Given the description of an element on the screen output the (x, y) to click on. 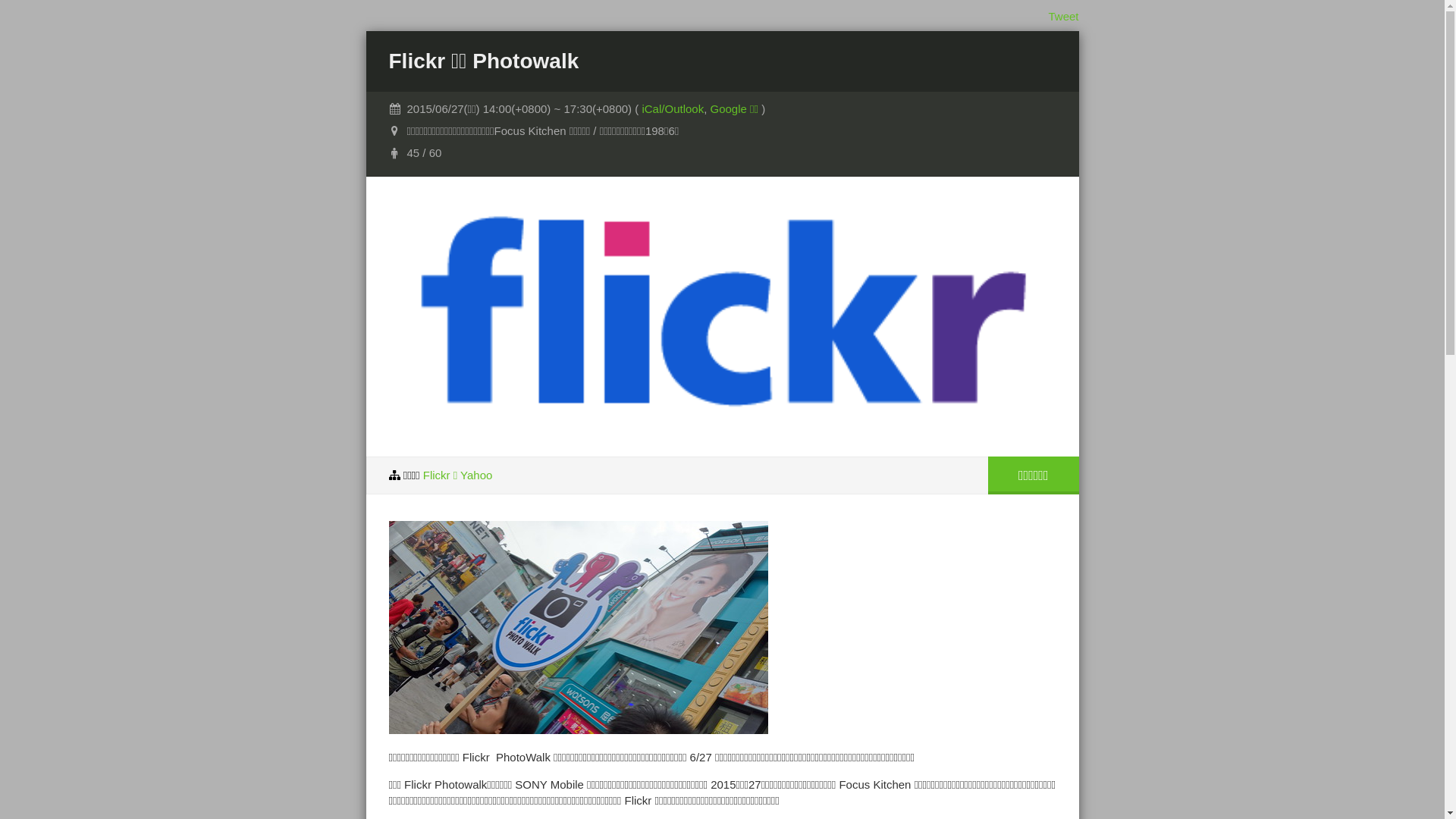
Tweet Element type: text (1063, 15)
iCal/Outlook Element type: text (672, 108)
